Given the description of an element on the screen output the (x, y) to click on. 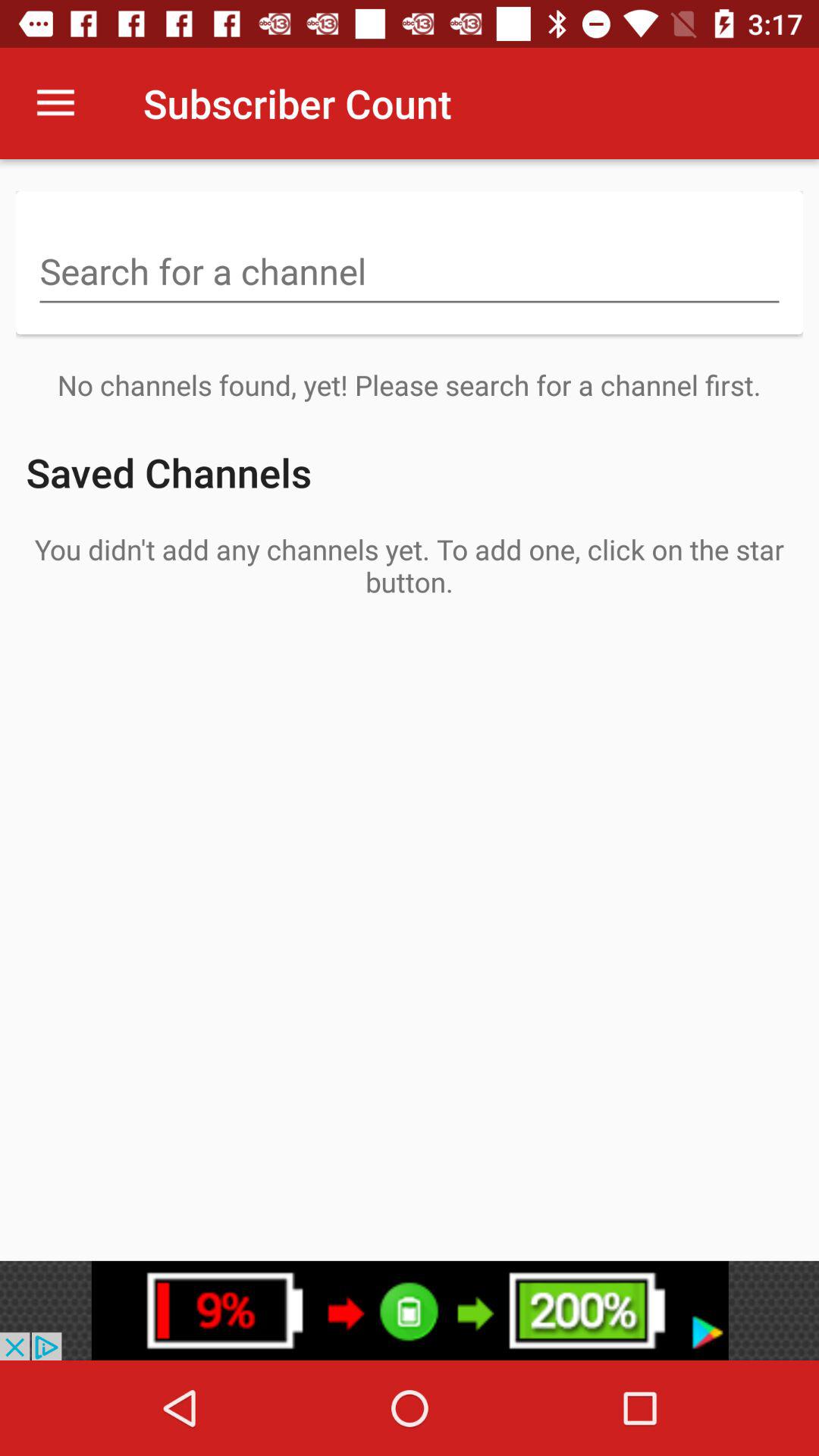
advertising (409, 1310)
